Given the description of an element on the screen output the (x, y) to click on. 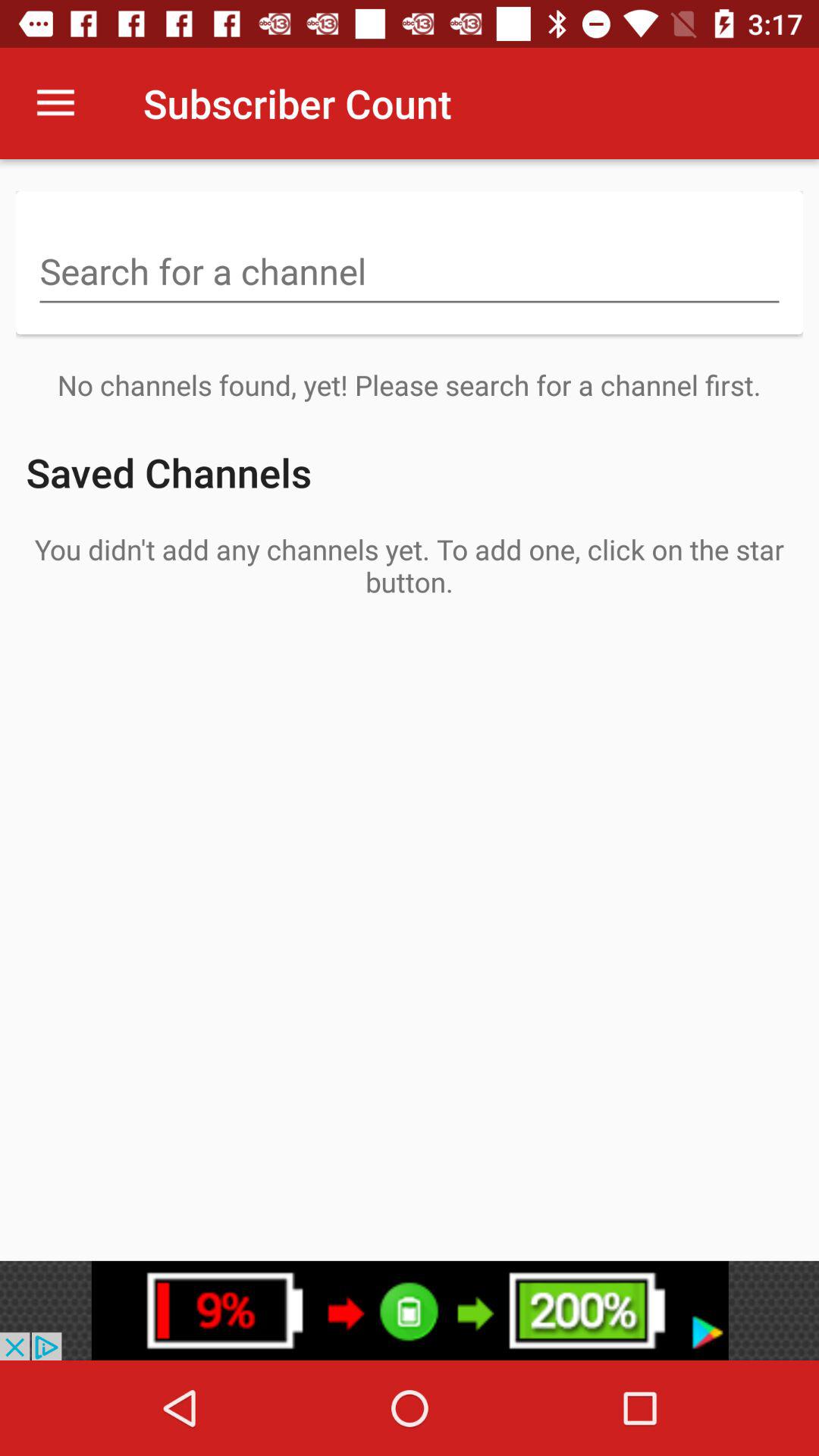
advertising (409, 1310)
